Given the description of an element on the screen output the (x, y) to click on. 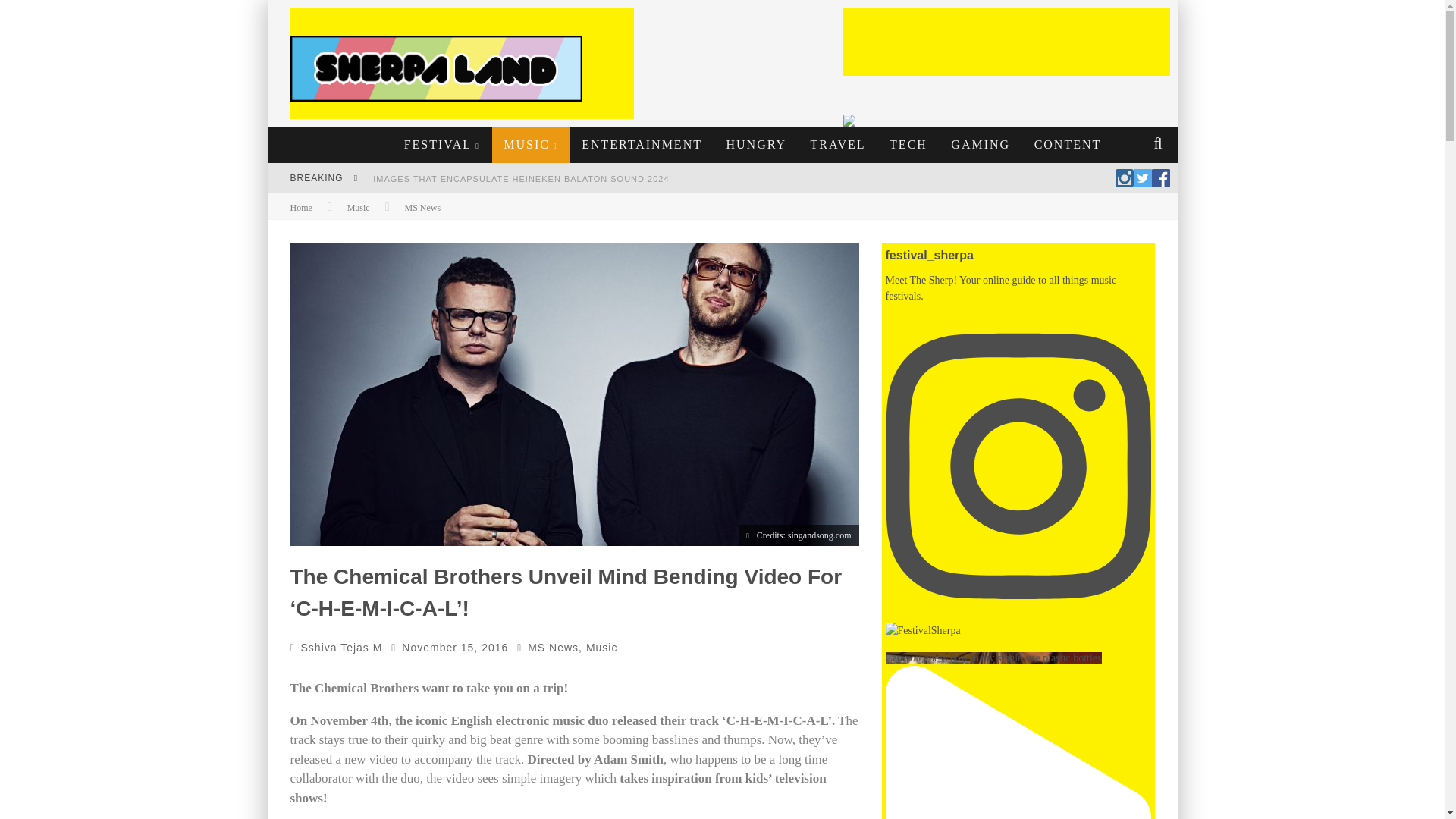
FESTIVAL (442, 144)
View all posts in Music (358, 207)
Log In (721, 470)
Images That Encapsulate Heineken Balaton Sound 2024 (520, 178)
